Given the description of an element on the screen output the (x, y) to click on. 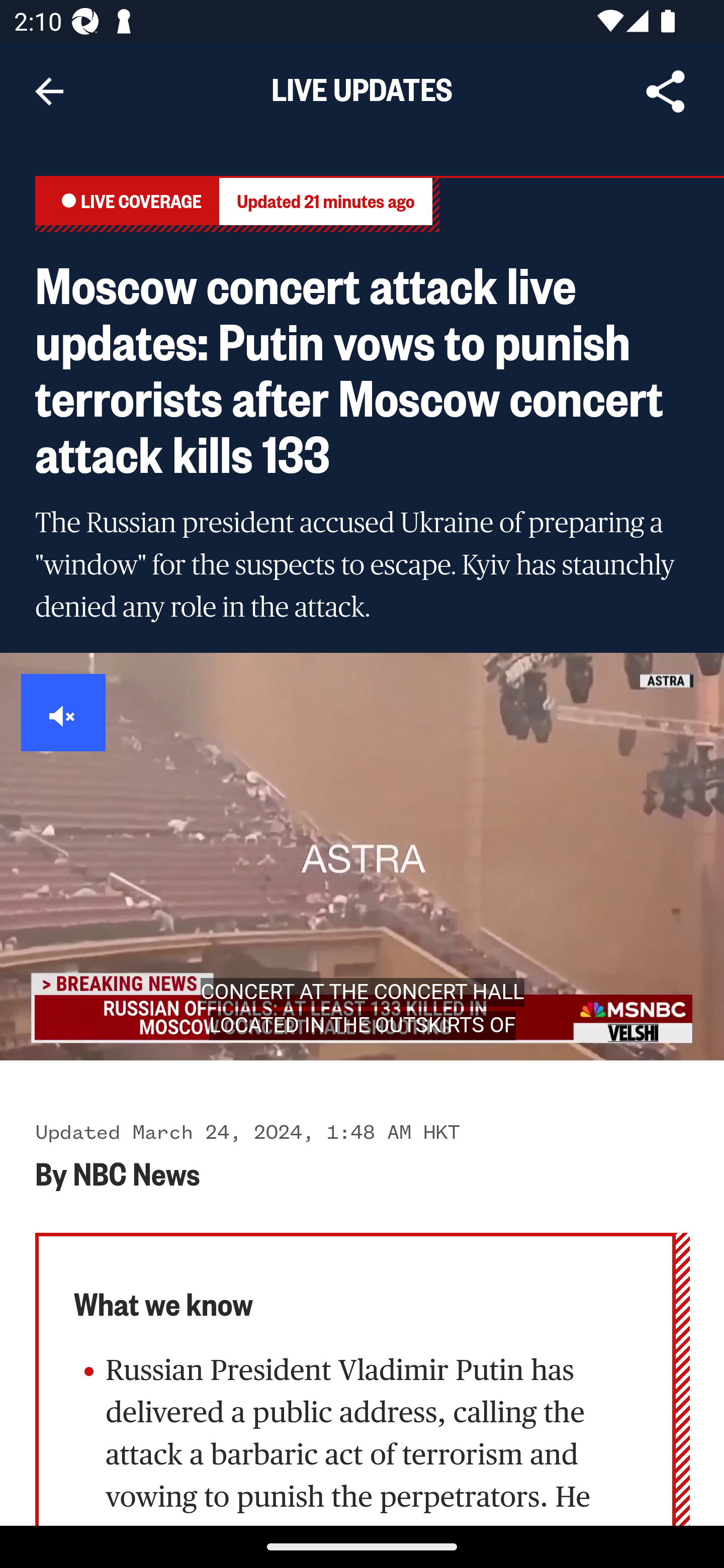
Navigate up (49, 91)
Share Article, button (665, 91)
 (63, 712)
